Given the description of an element on the screen output the (x, y) to click on. 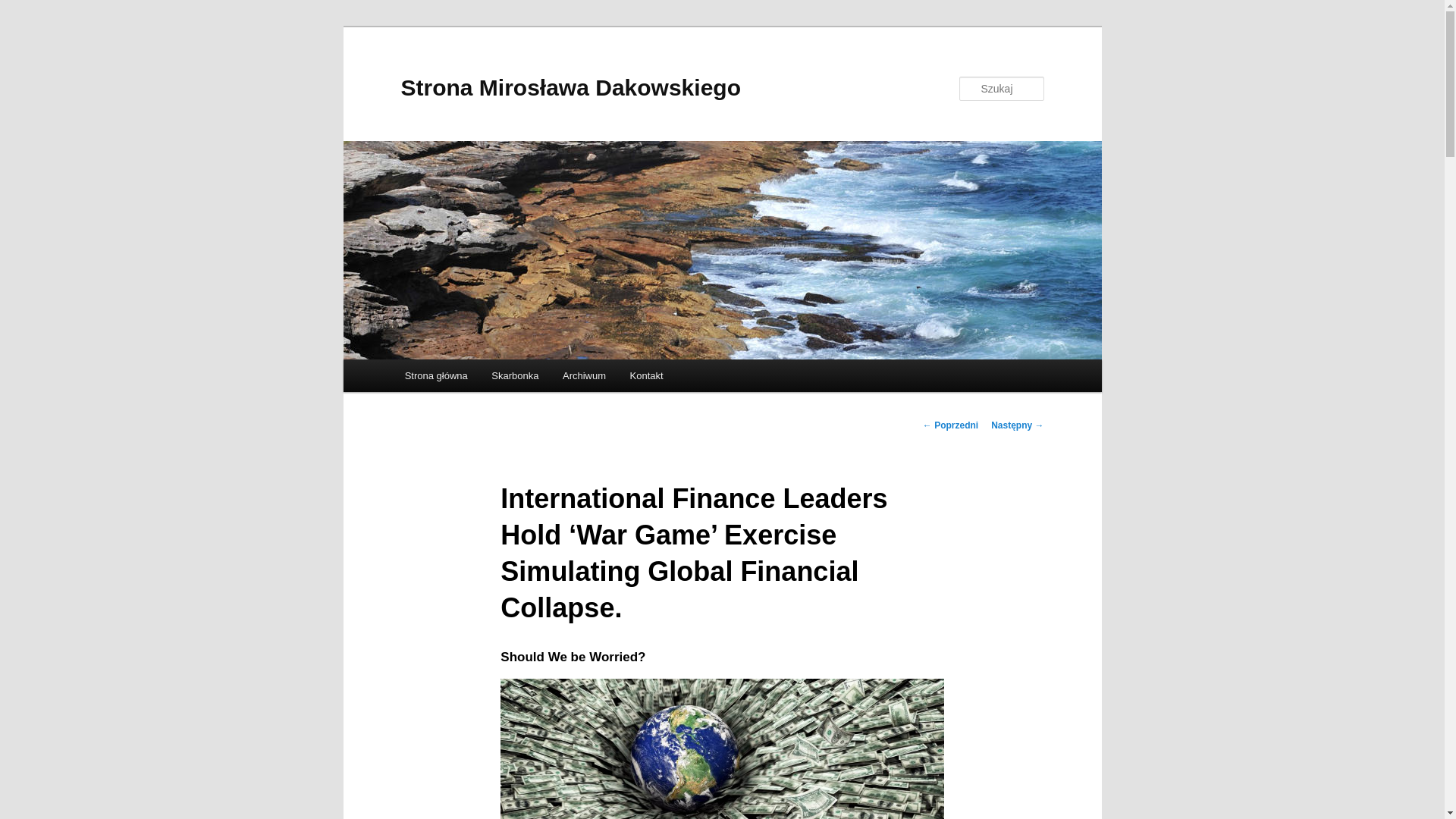
Szukaj (25, 9)
Skarbonka (515, 375)
Kontakt (646, 375)
Archiwum (583, 375)
